Given the description of an element on the screen output the (x, y) to click on. 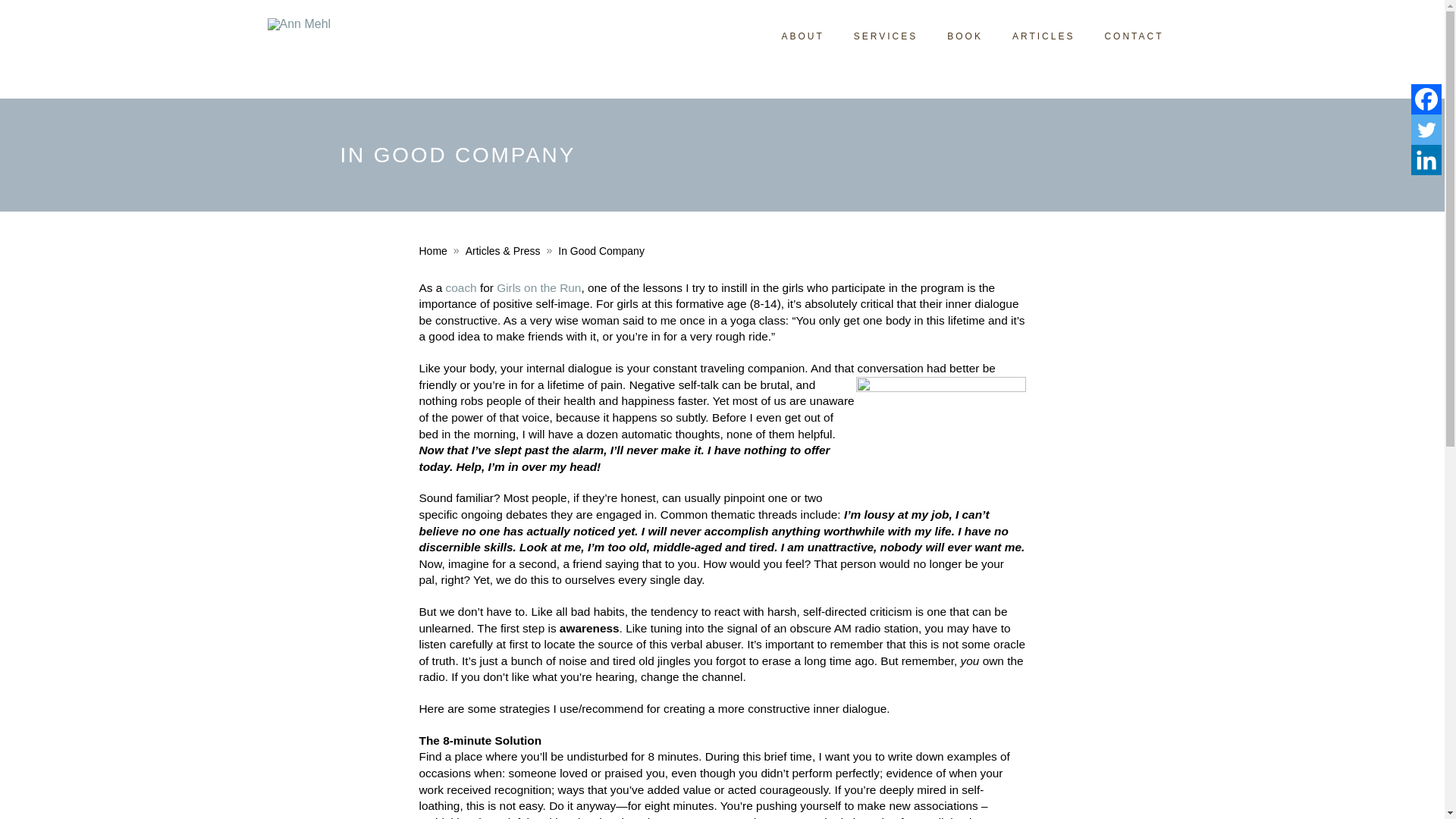
ARTICLES (1041, 36)
BOOK (963, 36)
Linkedin (1425, 159)
Twitter (1425, 129)
Girls on the Run (538, 287)
SERVICES (884, 36)
Home (432, 250)
coach (461, 287)
ABOUT (801, 36)
CONTACT (1131, 36)
